Given the description of an element on the screen output the (x, y) to click on. 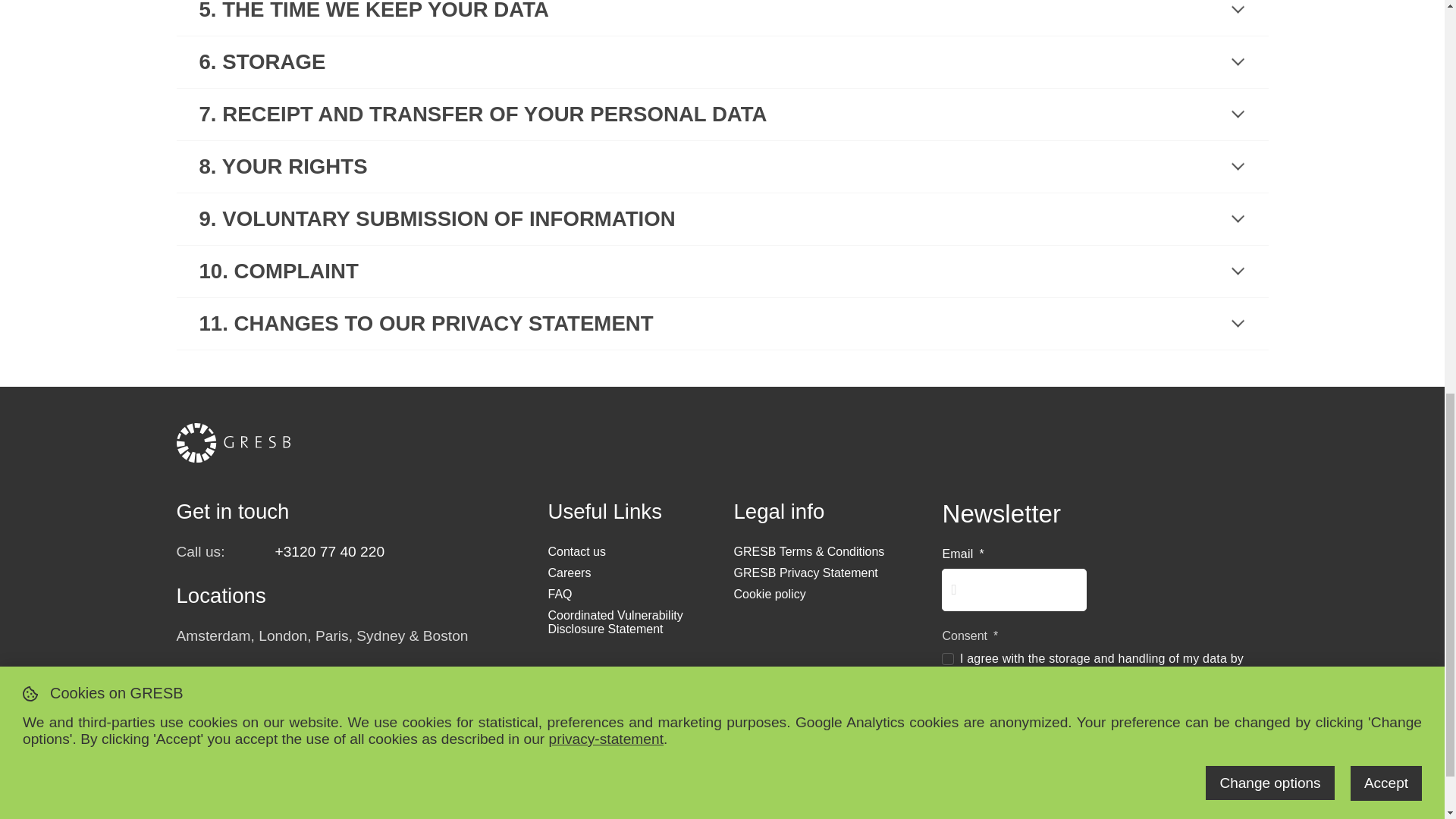
Get the newsletter! (1026, 733)
